Given the description of an element on the screen output the (x, y) to click on. 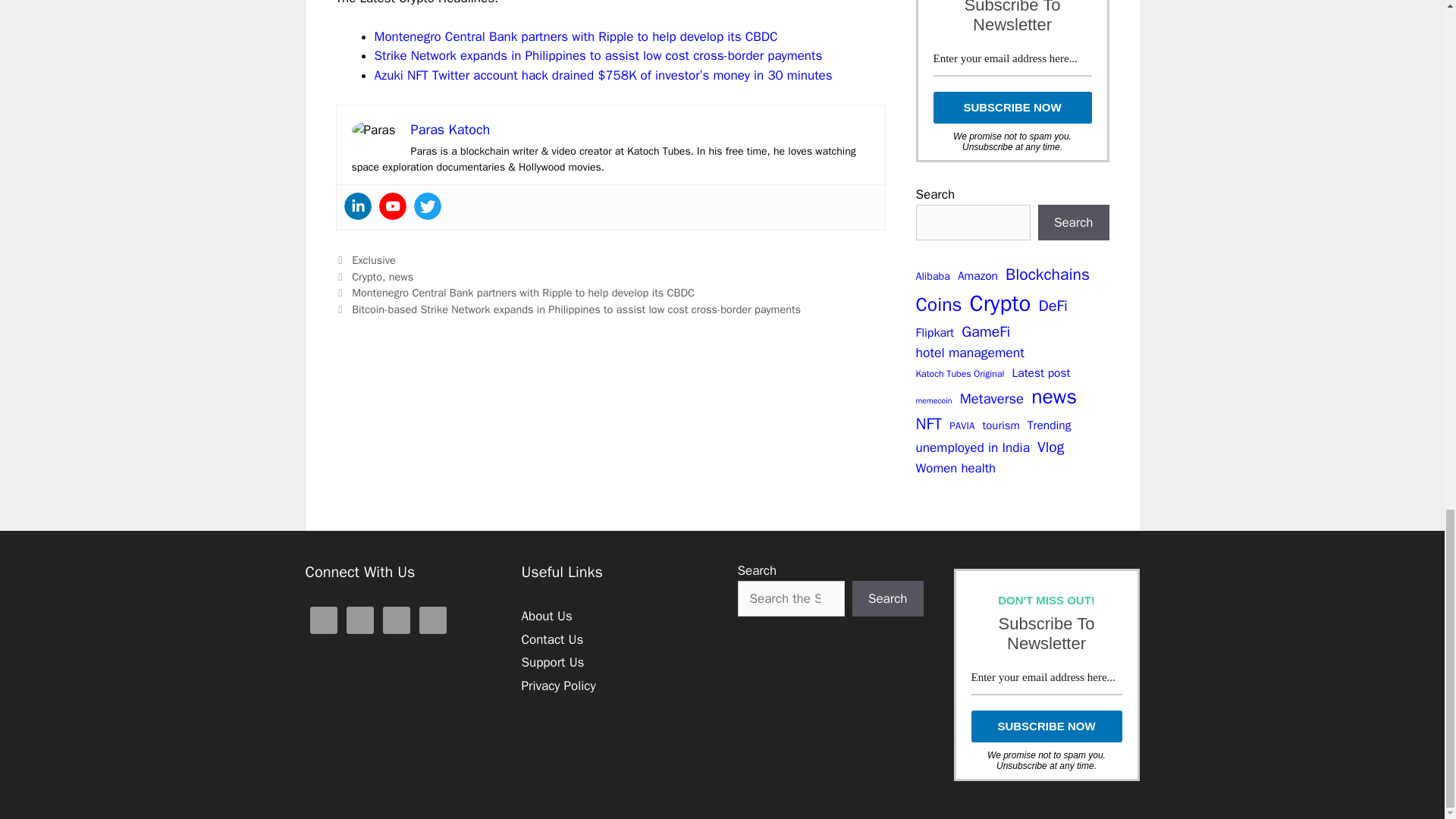
Subscribe Now (1011, 107)
news (400, 276)
Exclusive (374, 259)
Scroll back to top (1406, 169)
Crypto (366, 276)
Linkedin (357, 206)
Youtube (392, 206)
Twitter (427, 206)
Subscribe Now (1046, 726)
Paras Katoch (450, 129)
